Given the description of an element on the screen output the (x, y) to click on. 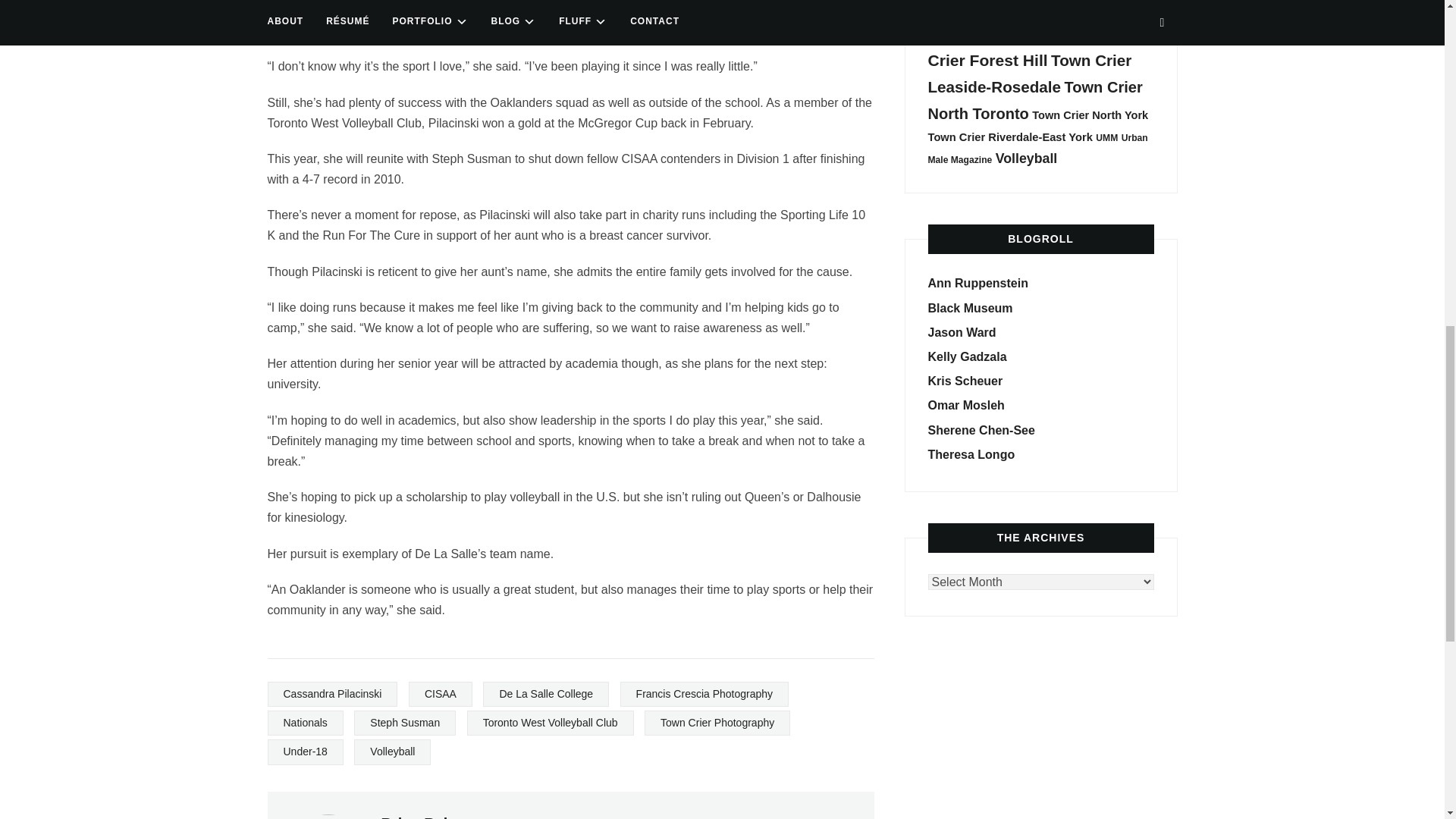
Posts by Brian Baker (422, 816)
Kris Scheuer (965, 380)
Sherene Chen-See (981, 430)
Ann Ruppenstein (977, 282)
Lurid Lectures for the Morbidly Curious (970, 308)
Kelly Gadzala (967, 356)
